Given the description of an element on the screen output the (x, y) to click on. 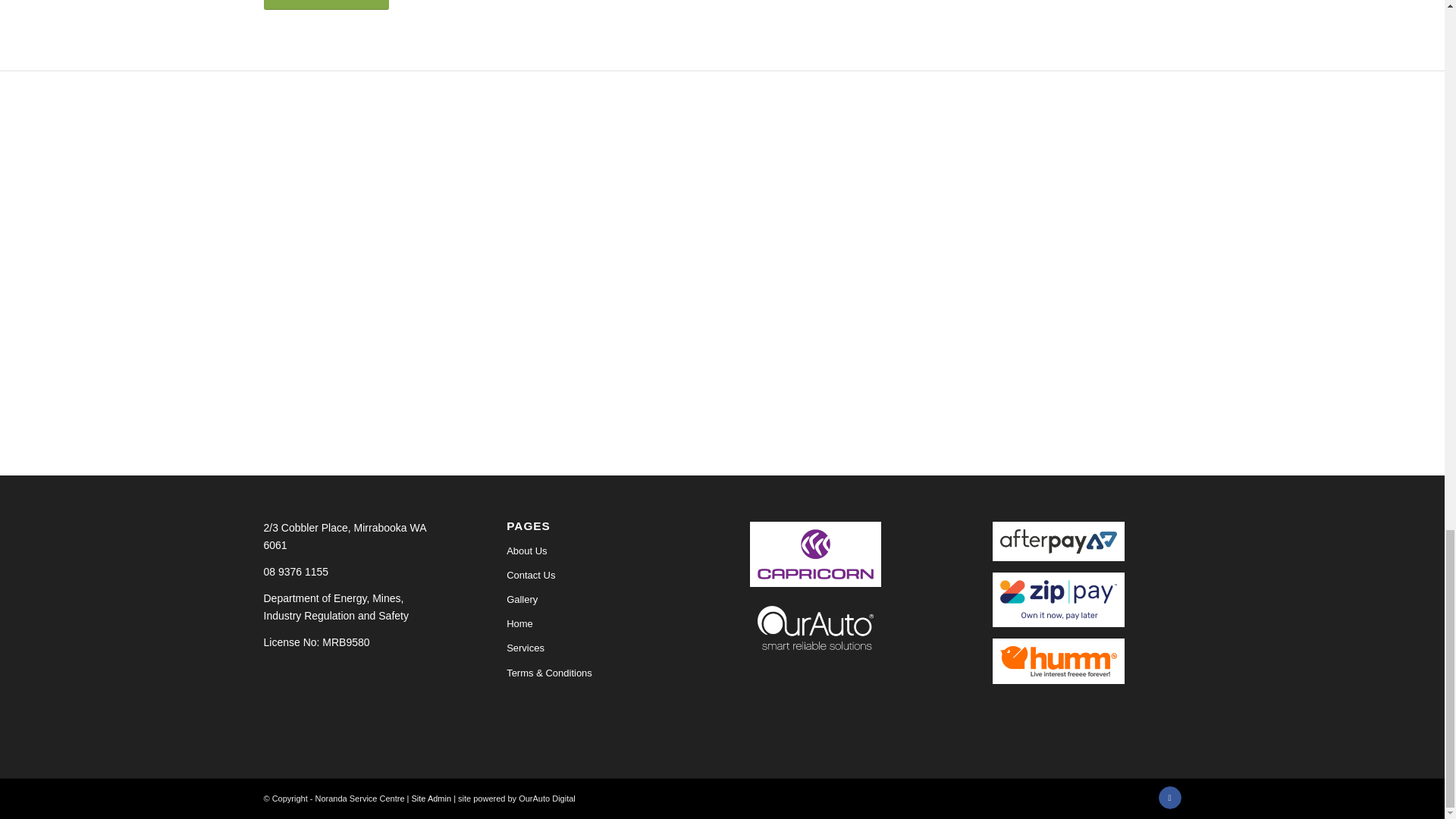
Facebook (1169, 797)
About Us (600, 550)
Contact Us (600, 575)
Home (600, 623)
08 9376 1155 (357, 571)
Gallery (600, 599)
Site Admin (430, 798)
Contact Us Today! (326, 5)
Services (600, 648)
